Given the description of an element on the screen output the (x, y) to click on. 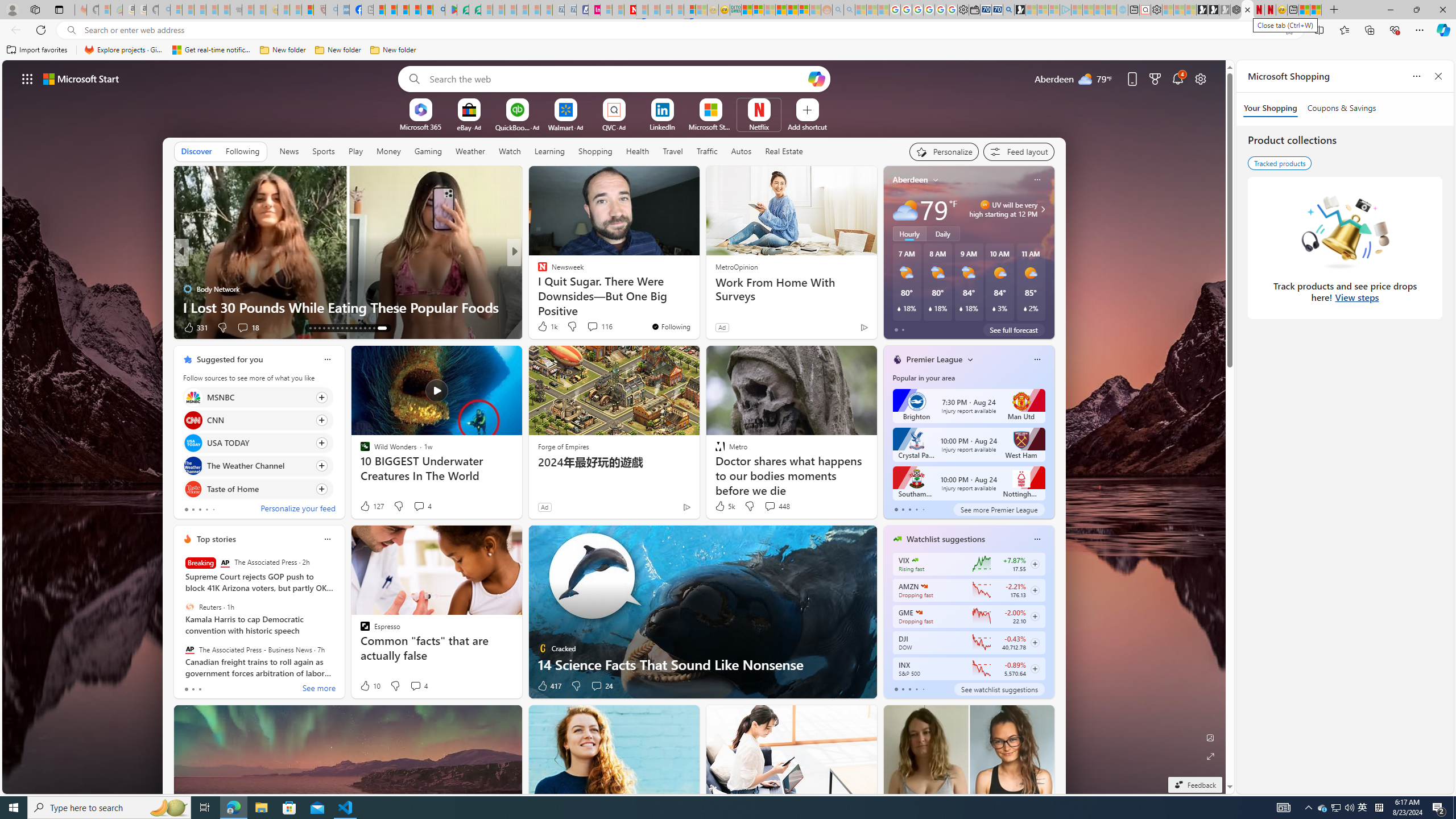
Netflix (758, 126)
Mostly cloudy (904, 208)
Expert Portfolios (781, 9)
Click to follow source USA TODAY (257, 442)
